Given the description of an element on the screen output the (x, y) to click on. 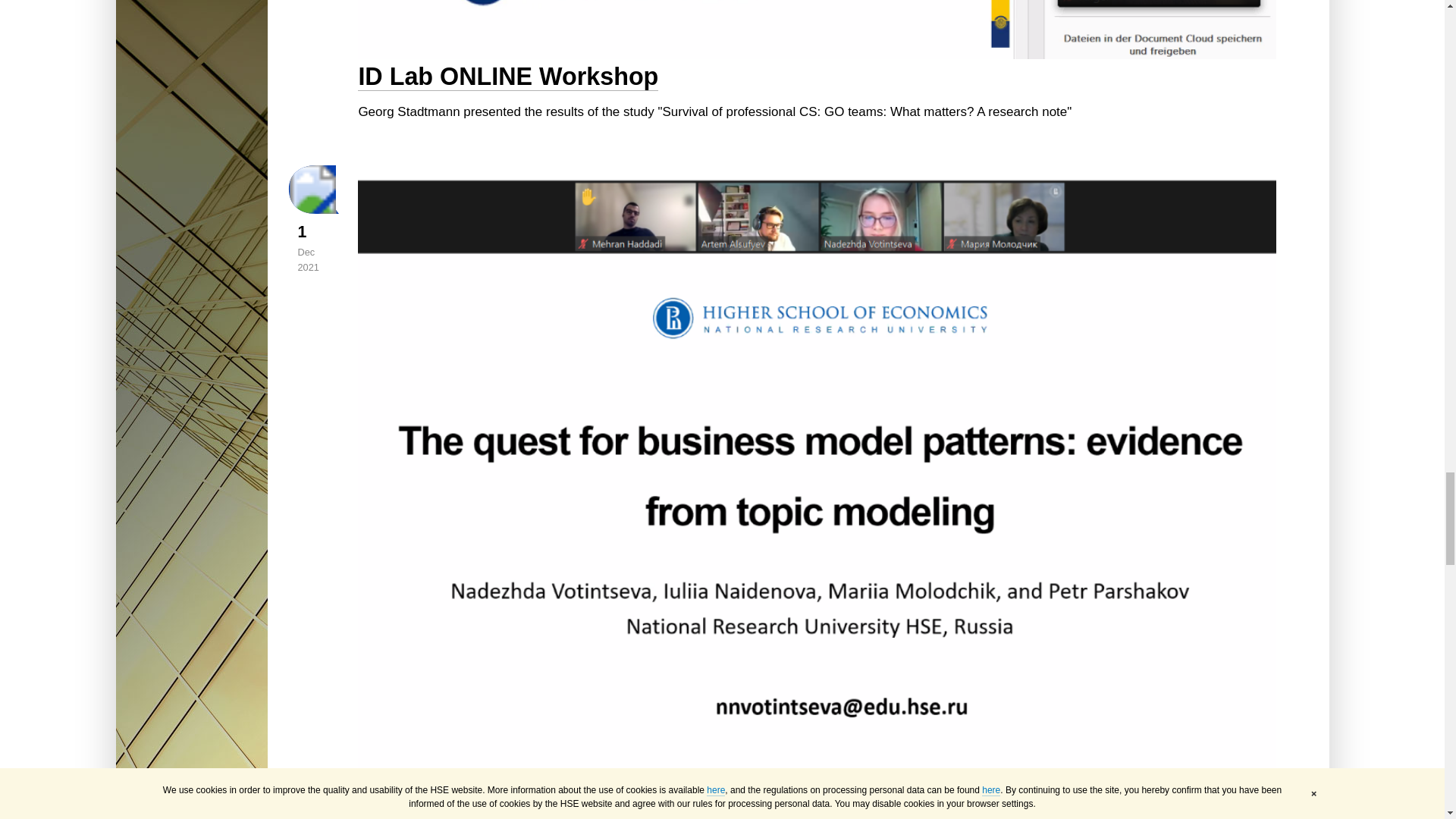
ID Lab ONLINE Workshop (816, 29)
